Given the description of an element on the screen output the (x, y) to click on. 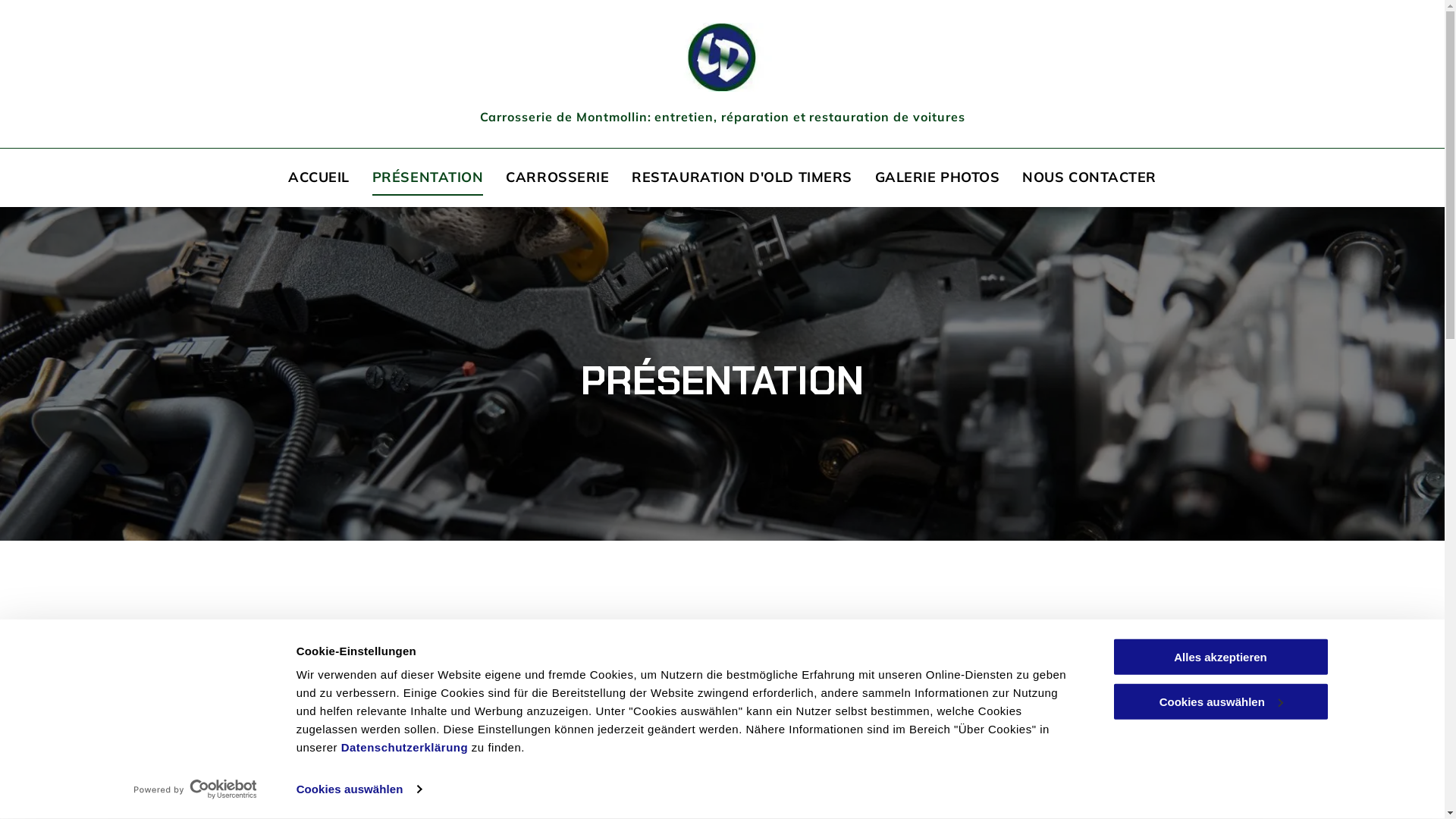
NOUS CONTACTER Element type: text (1088, 176)
GALERIE PHOTOS Element type: text (937, 176)
RESTAURATION D'OLD TIMERS Element type: text (741, 176)
CARROSSERIE Element type: text (557, 176)
Alles akzeptieren Element type: text (1219, 656)
ACCUEIL Element type: text (318, 176)
